Given the description of an element on the screen output the (x, y) to click on. 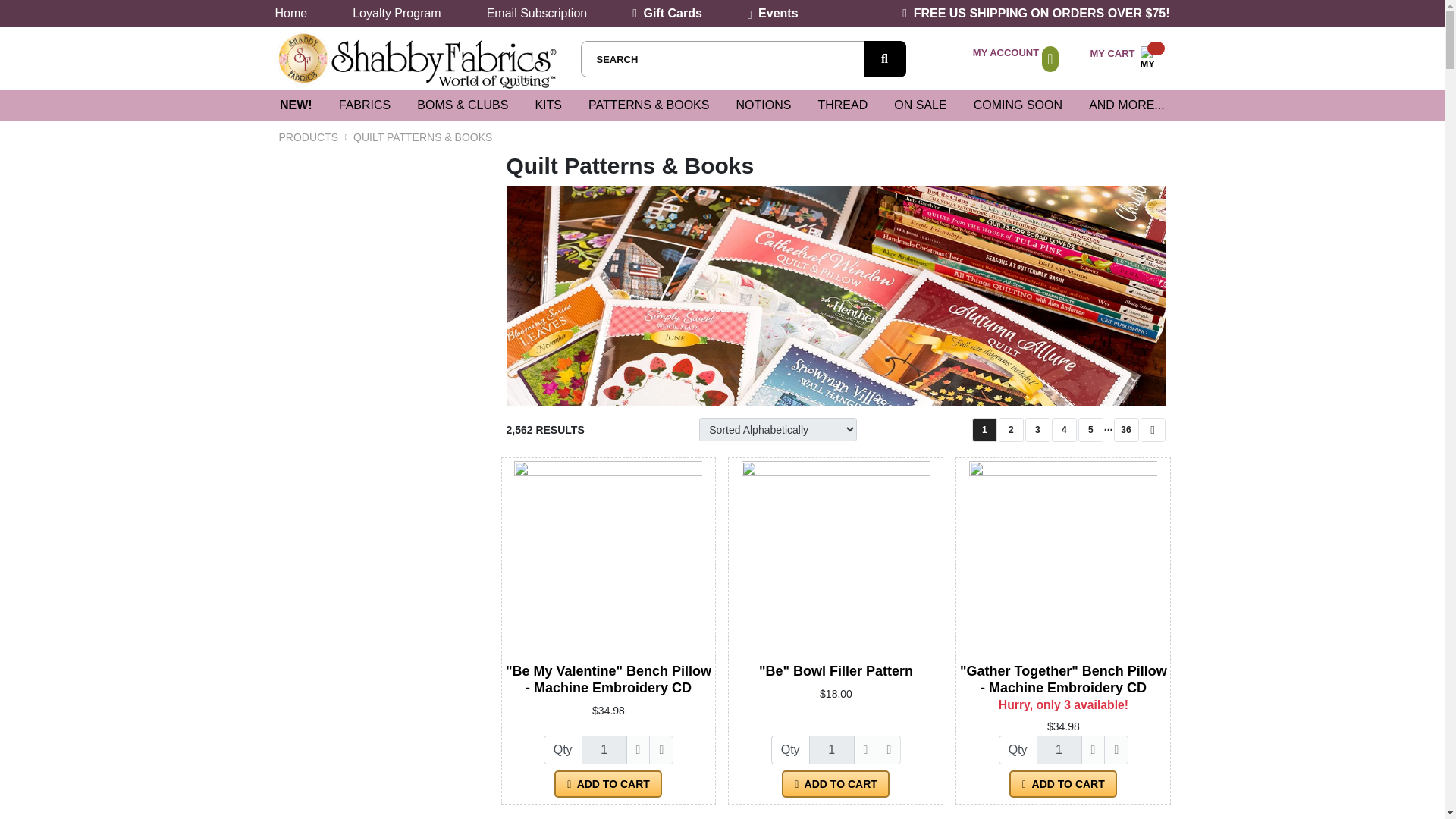
Gift Cards (666, 11)
Email Subscription (537, 11)
FABRICS (364, 105)
Events (772, 11)
MY ACCOUNT (1005, 52)
Loyalty Program (396, 11)
Skip to main content (281, 9)
1 (1128, 58)
1 (831, 749)
Home (603, 749)
NEW! (291, 11)
1 (296, 105)
